Given the description of an element on the screen output the (x, y) to click on. 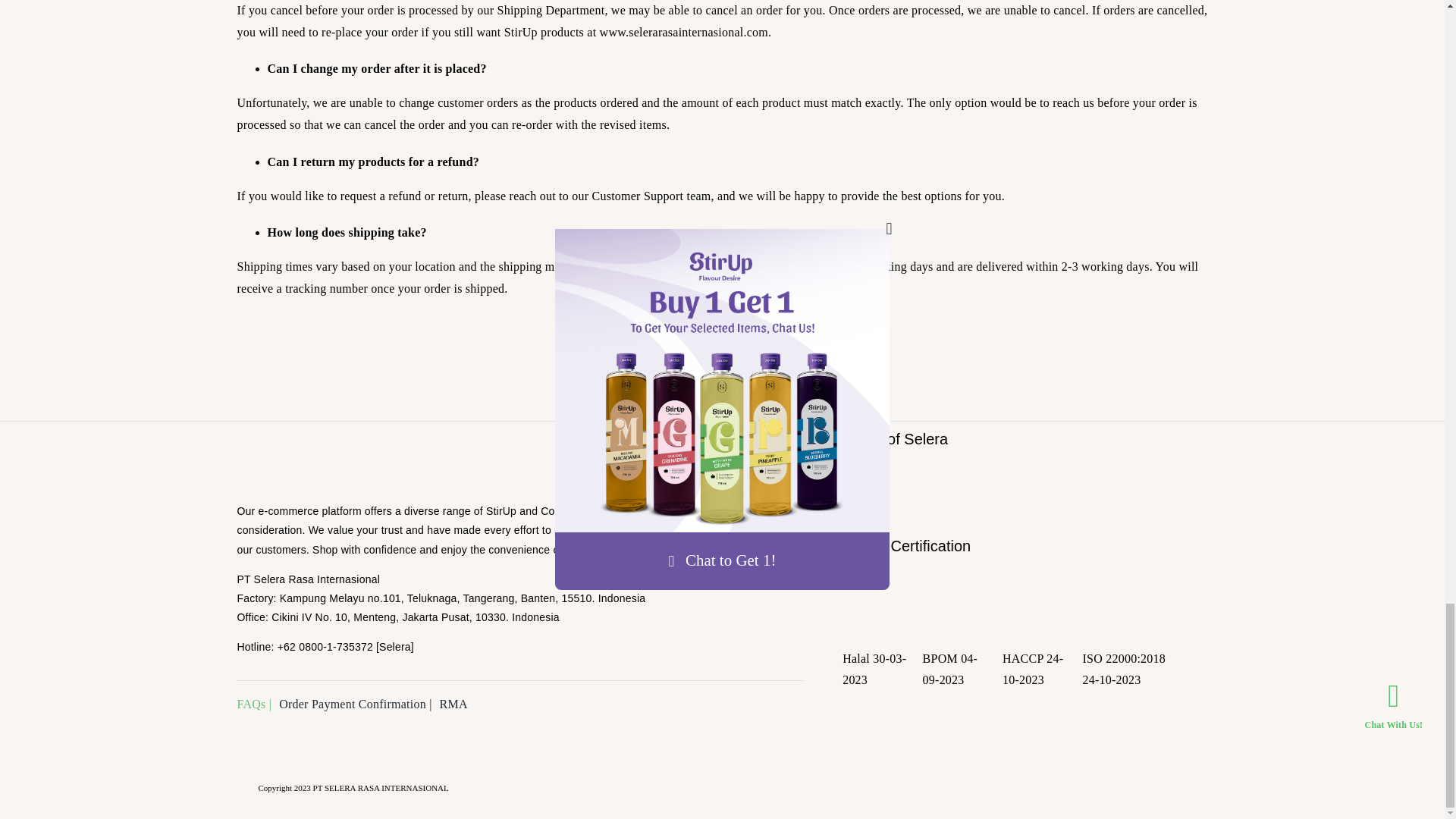
Selera-logo-footer (311, 454)
www.selerarasainternasional.com (683, 31)
